Given the description of an element on the screen output the (x, y) to click on. 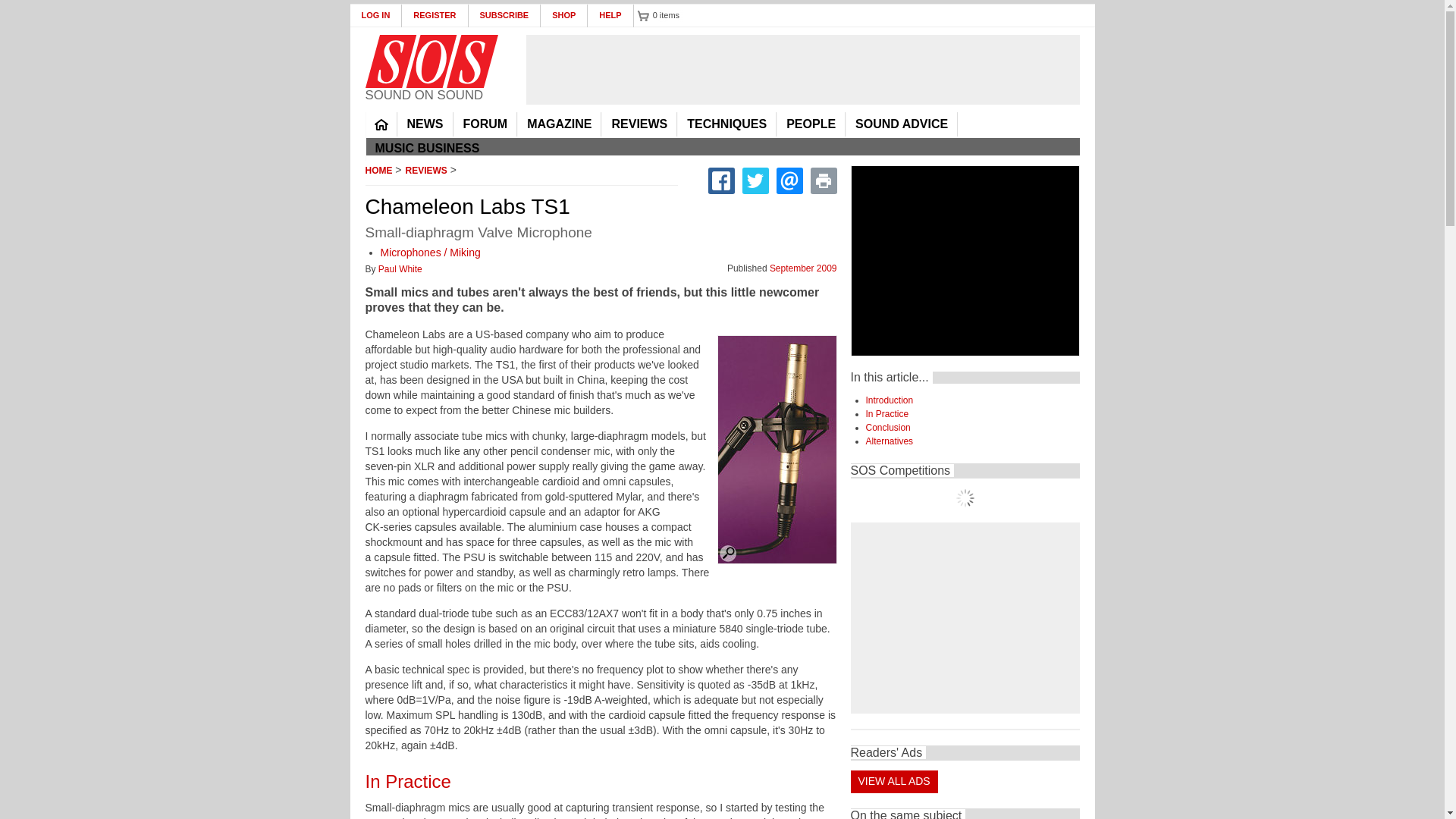
Home (431, 61)
FORUM (484, 124)
REGISTER (434, 15)
MAGAZINE (558, 124)
SHOP (564, 15)
LOG IN (376, 15)
SUBSCRIBE (504, 15)
NEWS (424, 124)
HOME (380, 124)
HELP (610, 15)
